Given the description of an element on the screen output the (x, y) to click on. 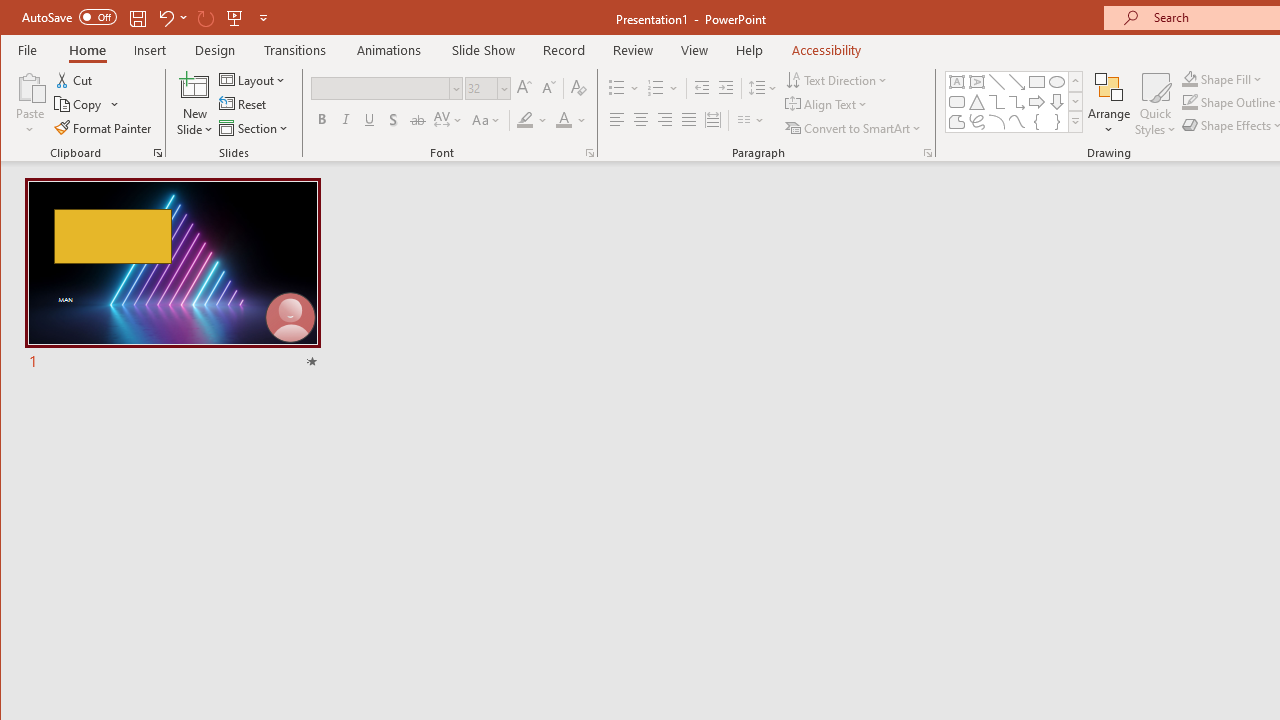
Save (138, 17)
Vertical Text Box (976, 82)
More Options (1233, 78)
New Slide (195, 86)
AutomationID: ShapesInsertGallery (1014, 102)
Shape Fill (1222, 78)
File Tab (28, 49)
Quick Access Toolbar (146, 17)
Font (387, 88)
Shape Outline Blue, Accent 1 (1189, 101)
Distributed (712, 119)
Paragraph... (927, 152)
Font Size (480, 88)
Numbering (655, 88)
